Given the description of an element on the screen output the (x, y) to click on. 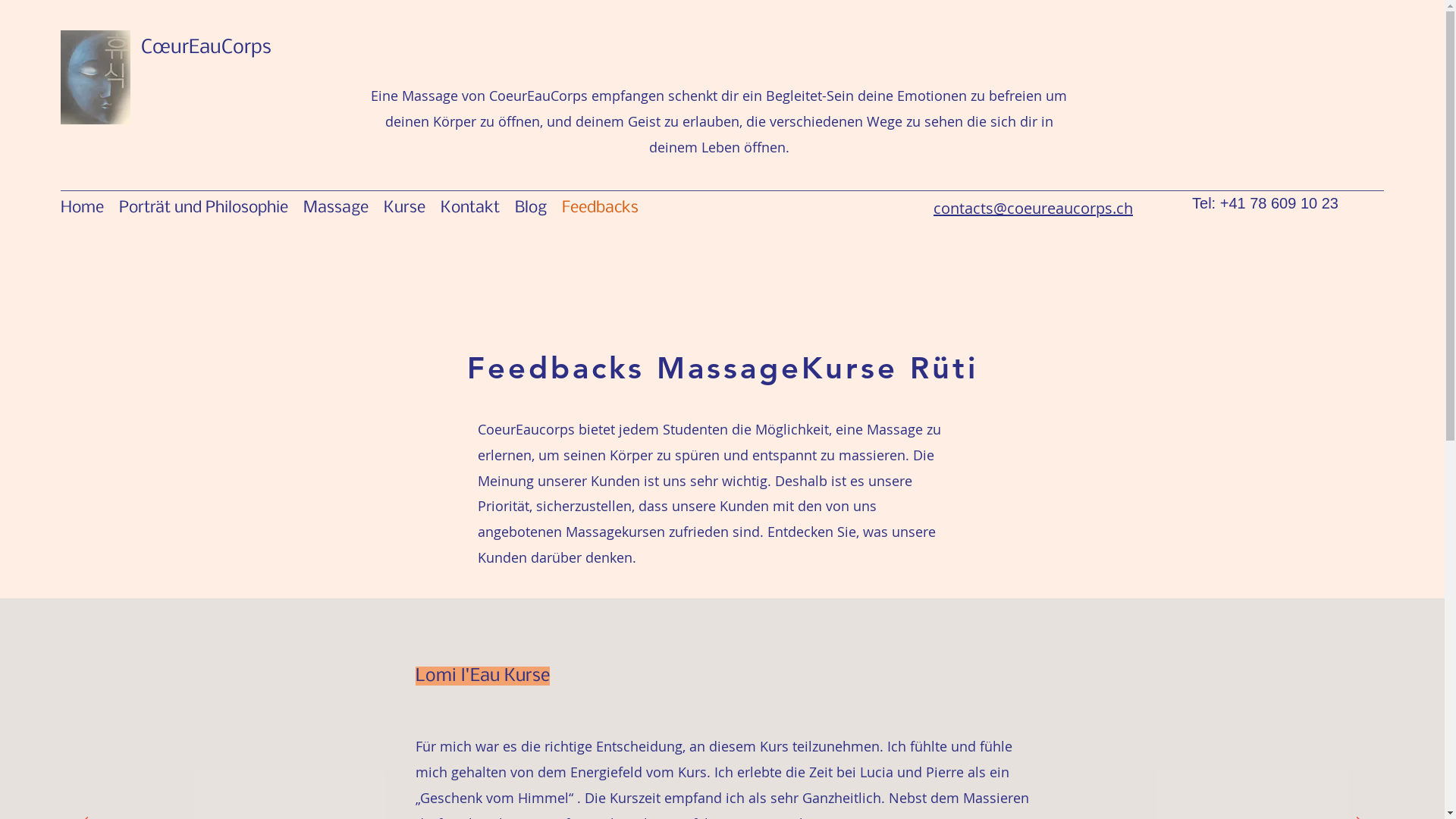
Home Element type: text (82, 208)
Kontakt Element type: text (470, 208)
Feedbacks Element type: text (600, 208)
contacts@coeureaucorps.ch Element type: text (1032, 208)
Massage Element type: text (335, 208)
Kurse Element type: text (404, 208)
Blog Element type: text (530, 208)
Lomi l'Eau Kurse Element type: text (482, 675)
